Given the description of an element on the screen output the (x, y) to click on. 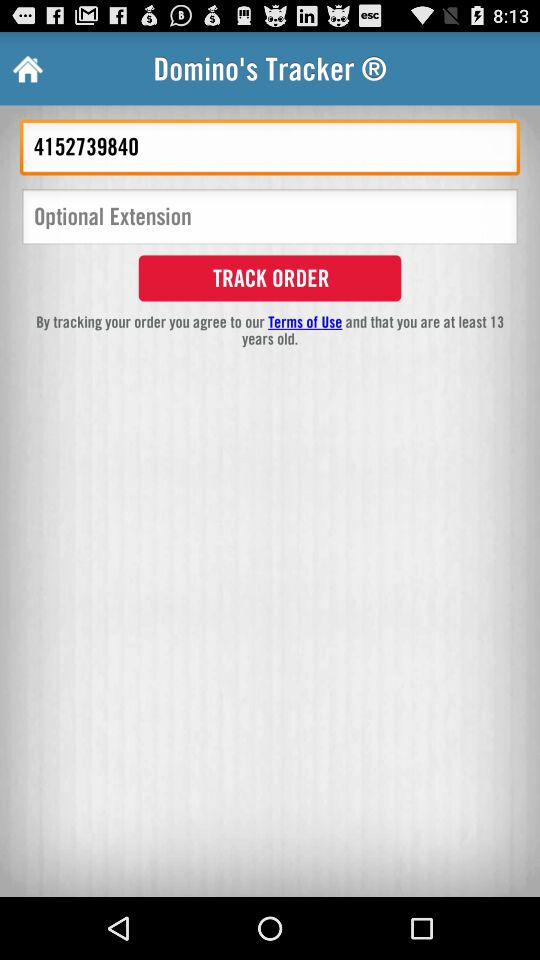
enter extension (269, 218)
